Given the description of an element on the screen output the (x, y) to click on. 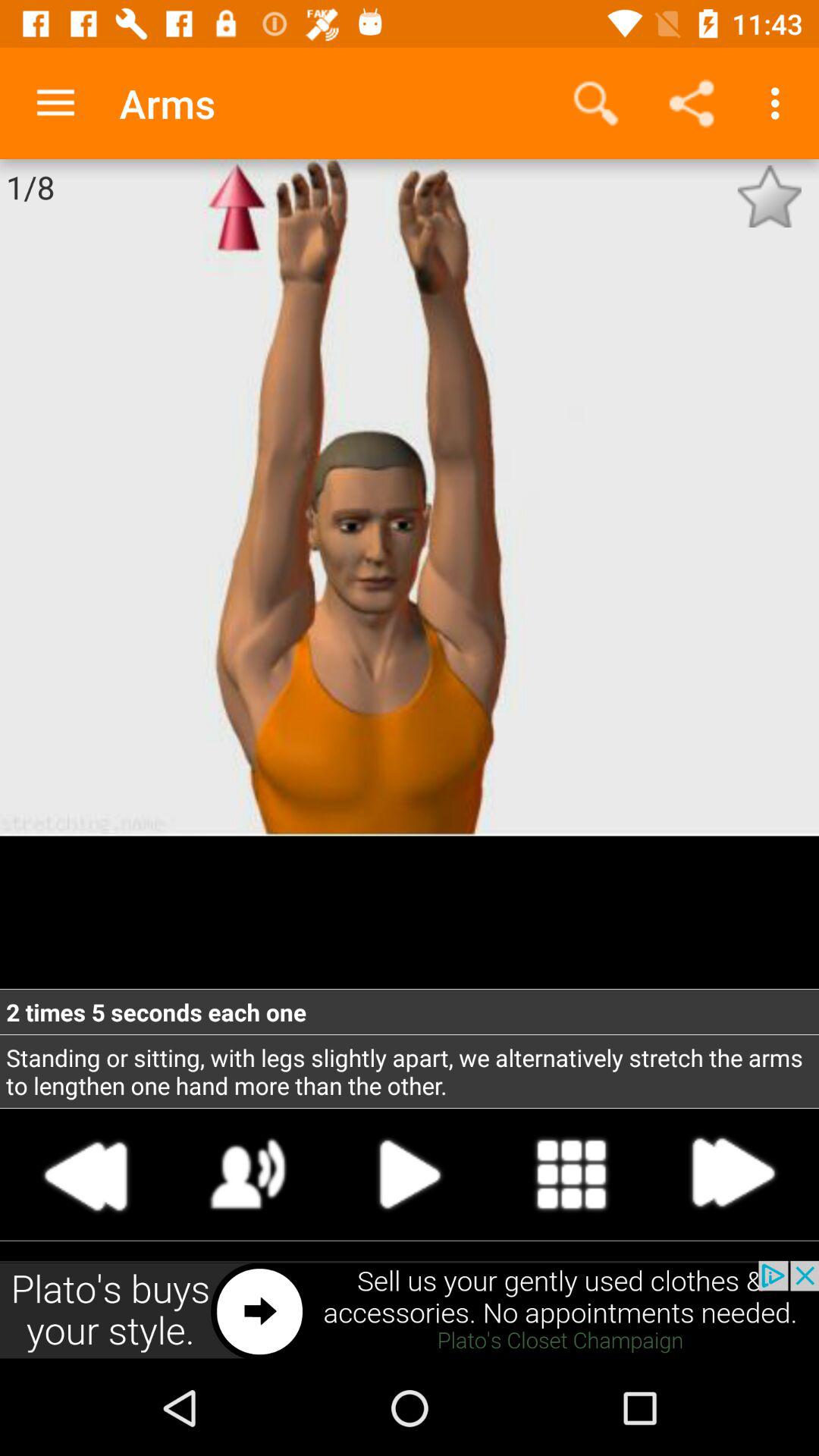
go to the last page of the entry (731, 1174)
